Given the description of an element on the screen output the (x, y) to click on. 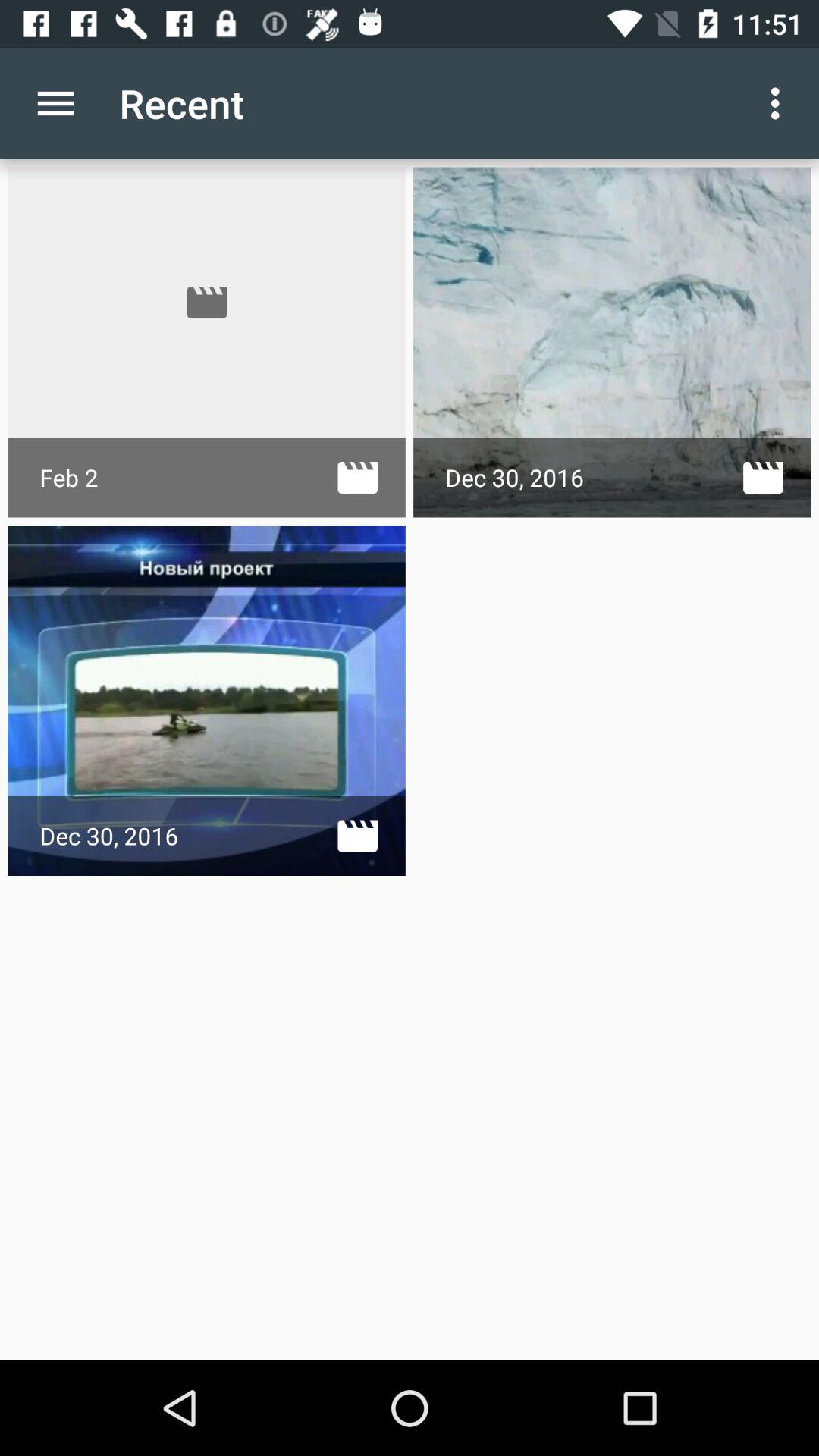
launch the app next to recent icon (779, 103)
